Given the description of an element on the screen output the (x, y) to click on. 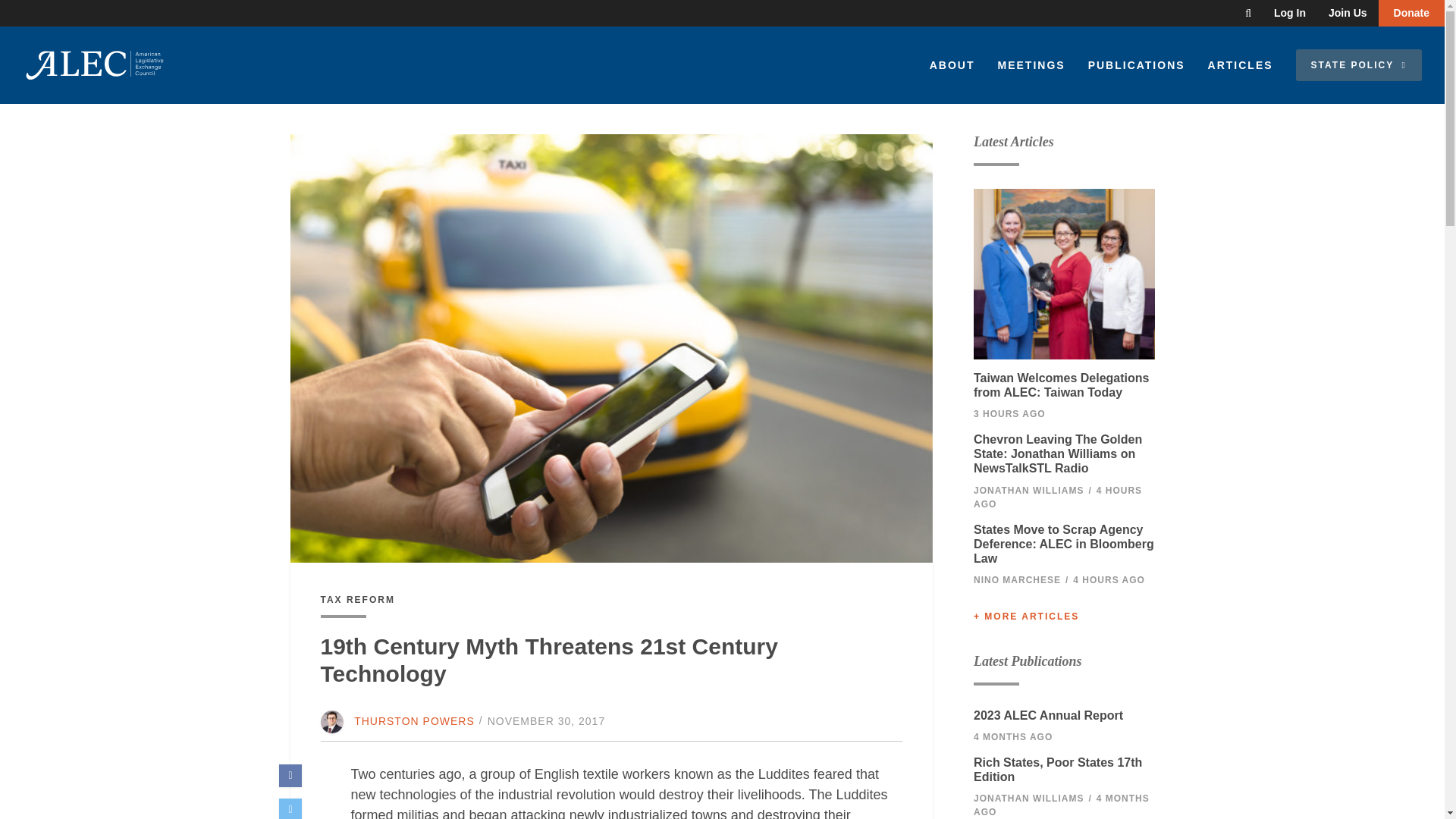
MEETINGS (1030, 64)
ABOUT (952, 64)
PUBLICATIONS (1136, 64)
Join Us (1347, 13)
STATE POLICY  (1358, 65)
ARTICLES (1240, 64)
Log In (1289, 13)
